Given the description of an element on the screen output the (x, y) to click on. 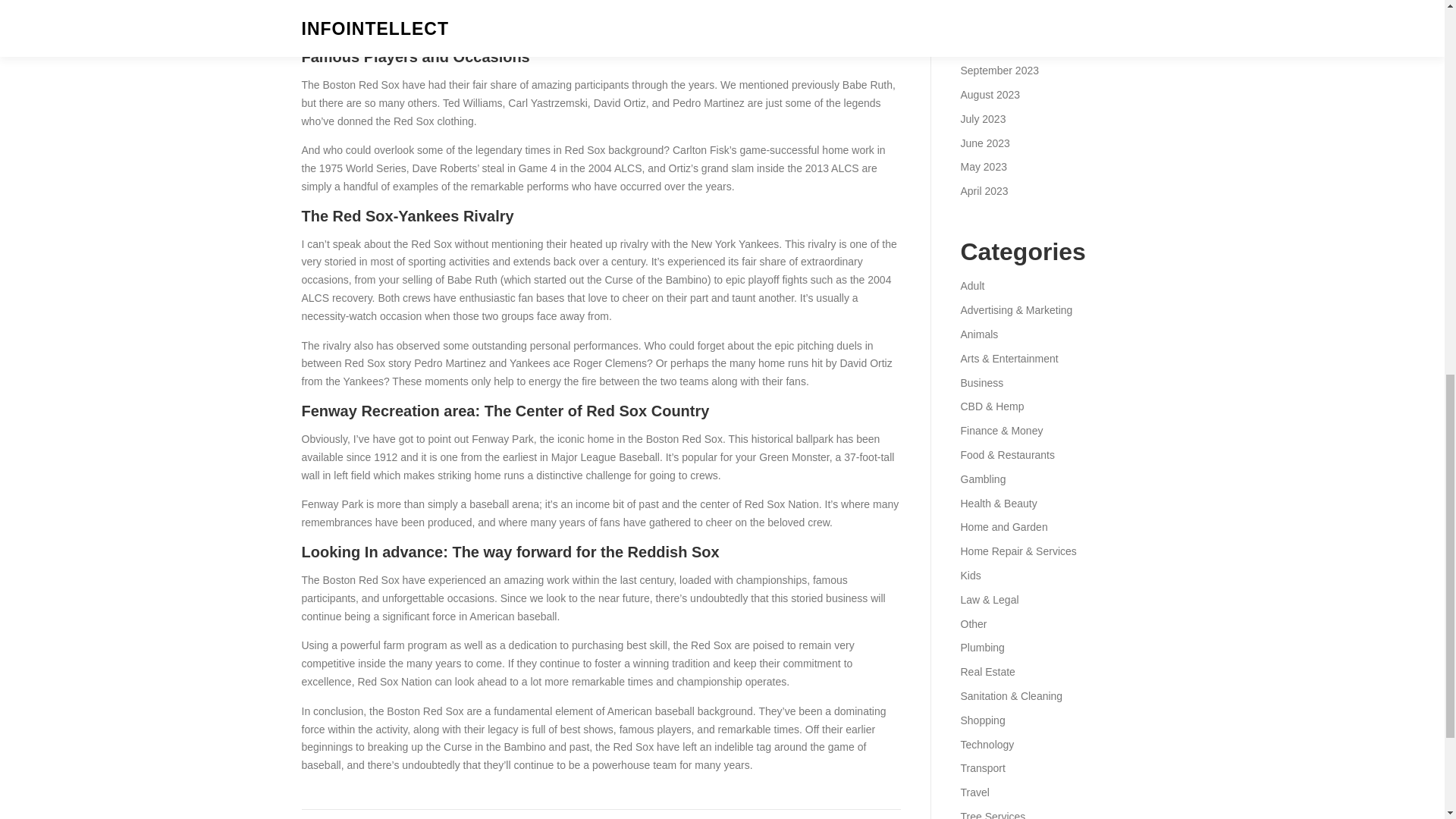
Adult (971, 285)
July 2023 (982, 119)
October 2023 (992, 46)
November 2023 (997, 22)
August 2023 (989, 94)
December 2023 (997, 2)
May 2023 (982, 166)
Business (981, 382)
April 2023 (983, 191)
September 2023 (999, 70)
